Given the description of an element on the screen output the (x, y) to click on. 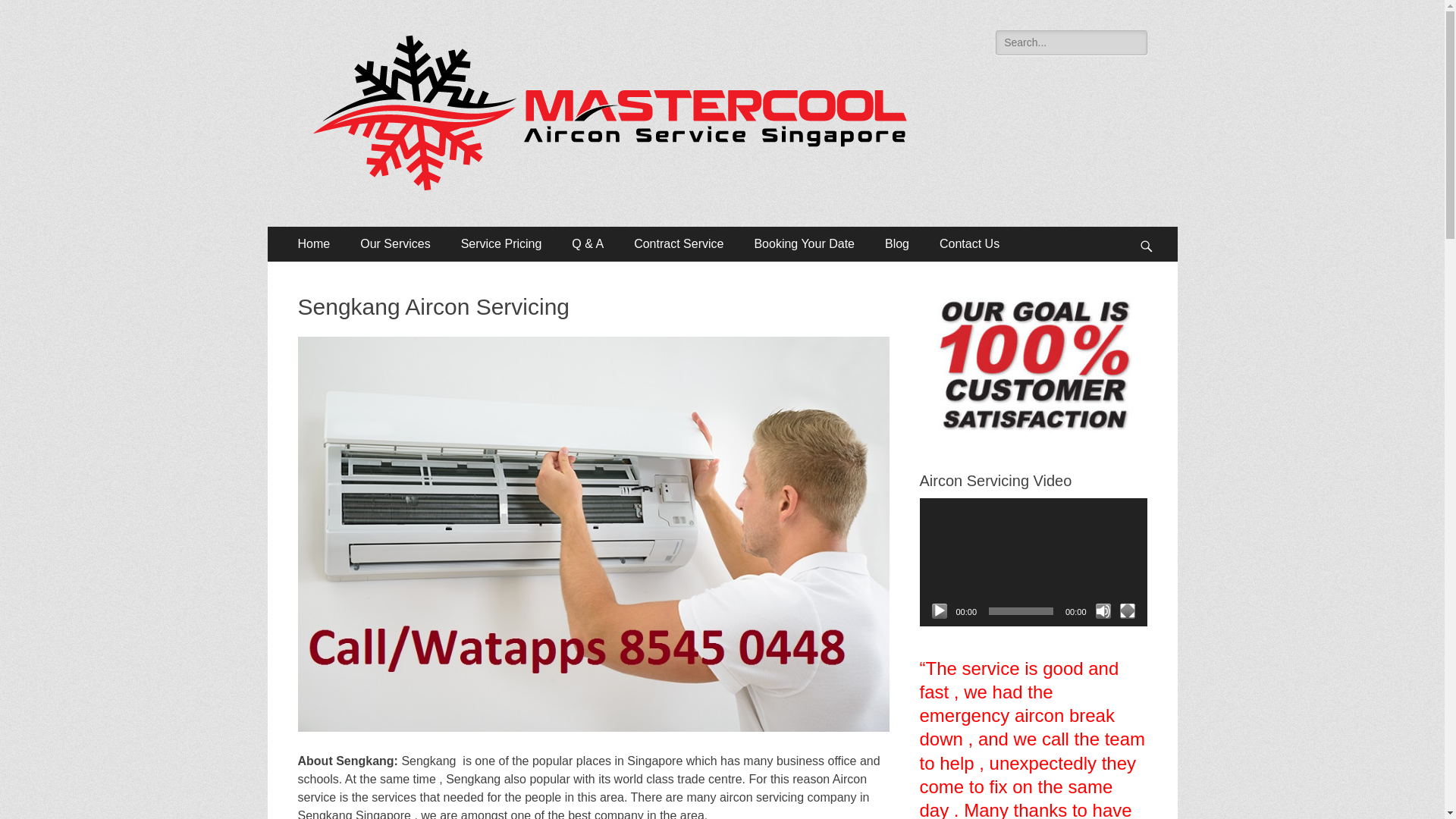
Home (313, 243)
Fullscreen (1126, 611)
Our Services (395, 243)
Search for: (1071, 42)
Contact Us (969, 243)
Booking Your Date (803, 243)
Search (33, 13)
Blog (896, 243)
Contract Service (678, 243)
